Given the description of an element on the screen output the (x, y) to click on. 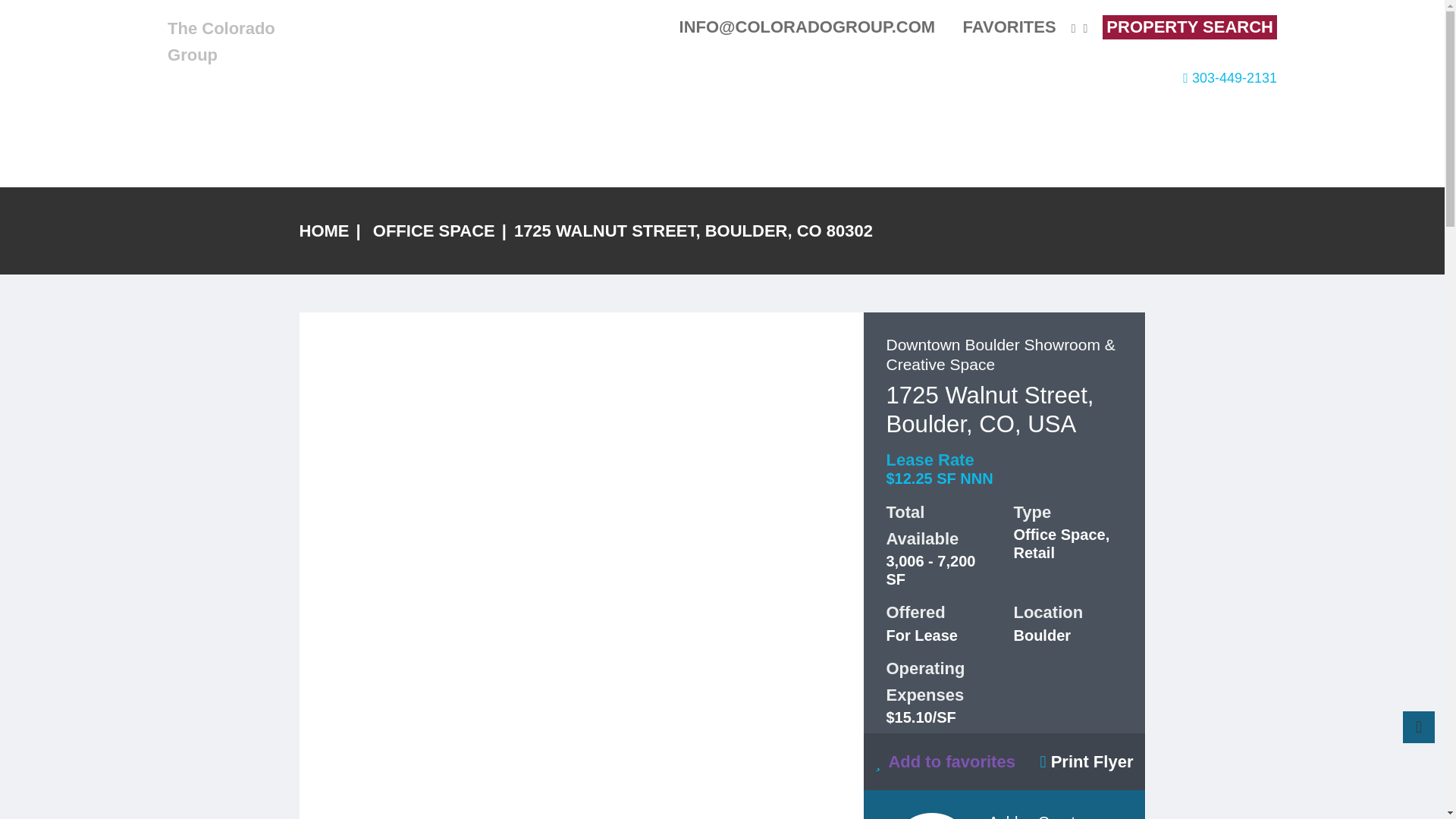
PROPERTY SEARCH (1189, 27)
Ashley Overton (1040, 816)
BROKERS (769, 78)
The Colorado Group (221, 41)
FAVORITES (1001, 26)
SERVICES (1041, 78)
PROPERTY MANAGEMENT (905, 78)
HOME (589, 78)
1725 Walnut Street,  Boulder, CO 80302 (1085, 761)
Add to favorites (944, 761)
